Given the description of an element on the screen output the (x, y) to click on. 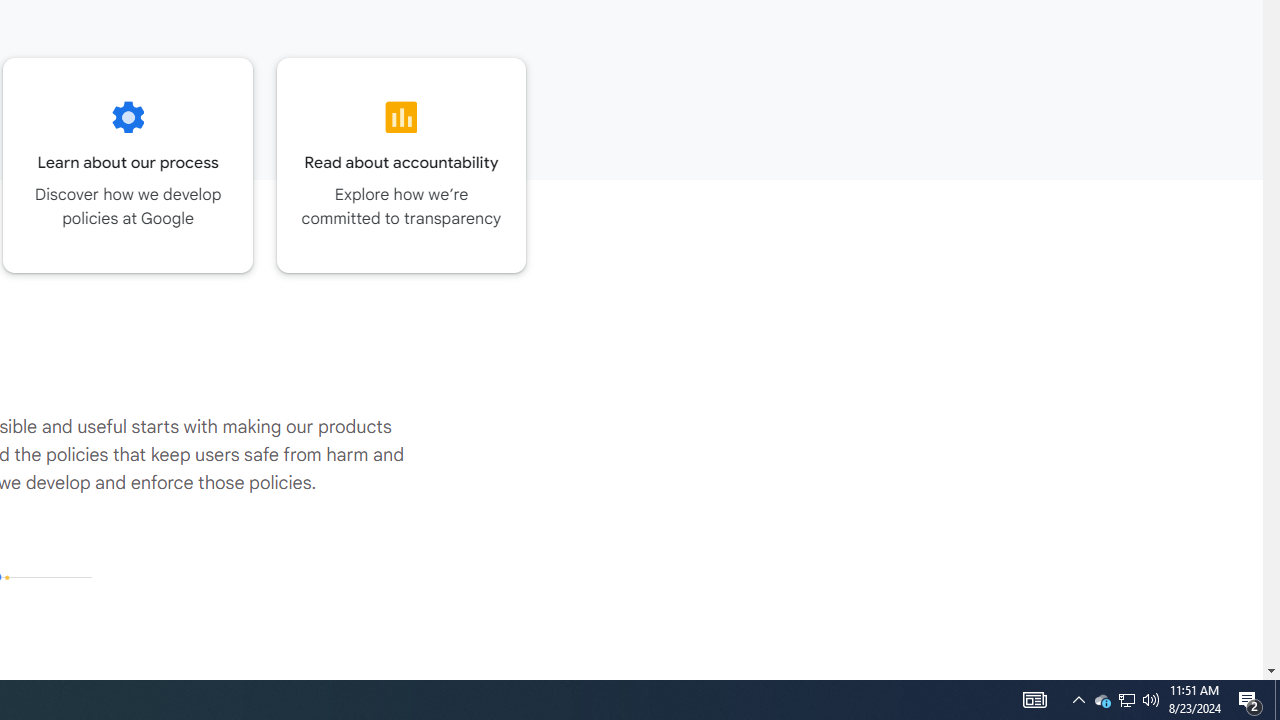
Go to the Accountability page (401, 165)
Go to the Our process page (127, 165)
